Given the description of an element on the screen output the (x, y) to click on. 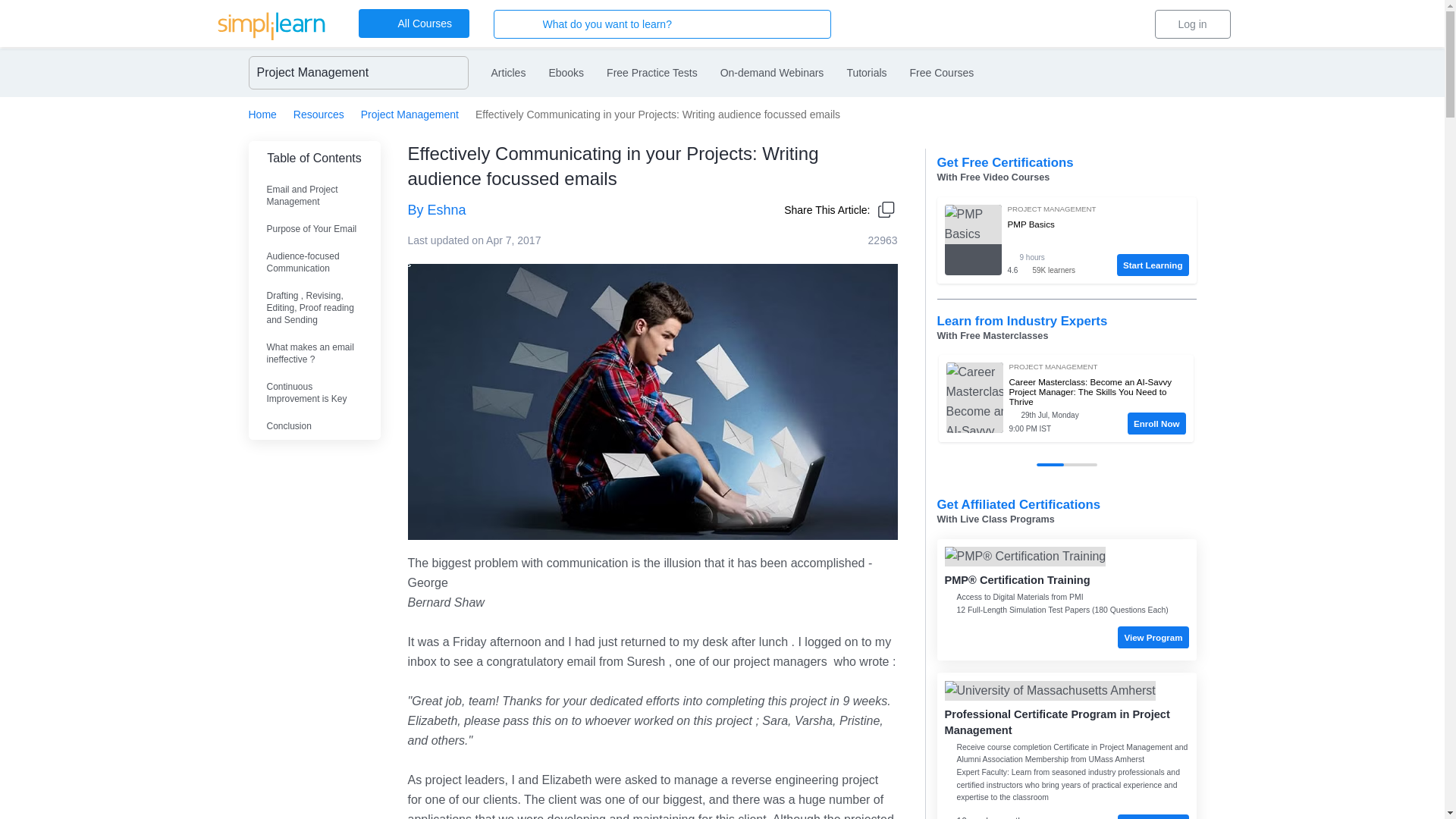
Free Practice Tests (652, 72)
Project Management (409, 114)
Date (1058, 415)
Conclusion (314, 425)
By Eshna (578, 209)
Log in (1192, 23)
Purpose of Your Email (314, 228)
Continuous Improvement is Key (314, 392)
Duration (1051, 257)
Free Courses (942, 72)
On-demand Webinars (772, 72)
Resources (318, 114)
Log in (1192, 23)
Email and Project Management (314, 195)
